Given the description of an element on the screen output the (x, y) to click on. 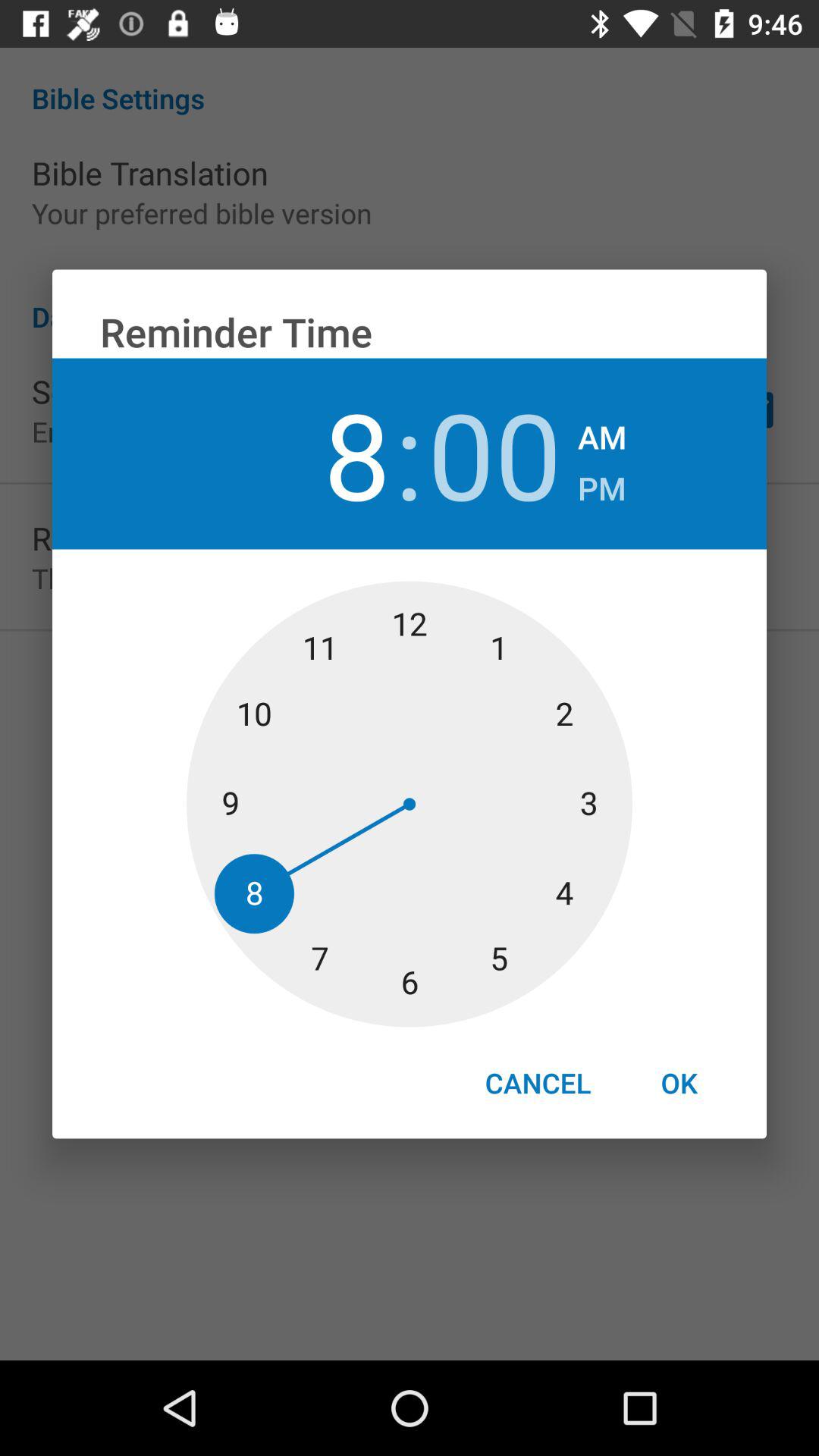
tap the 8 (323, 453)
